Given the description of an element on the screen output the (x, y) to click on. 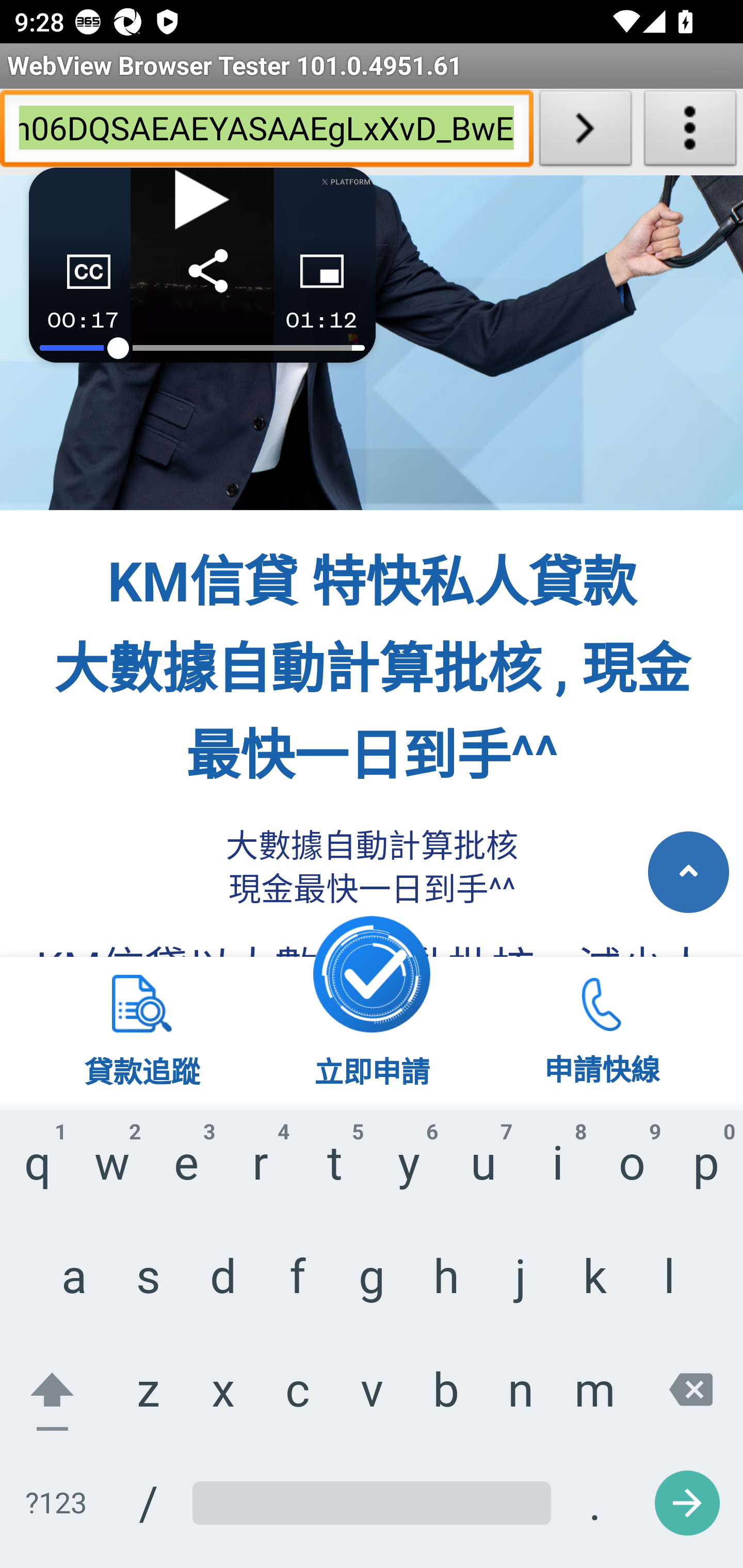
Load URL (585, 132)
About WebView (690, 132)
